Given the description of an element on the screen output the (x, y) to click on. 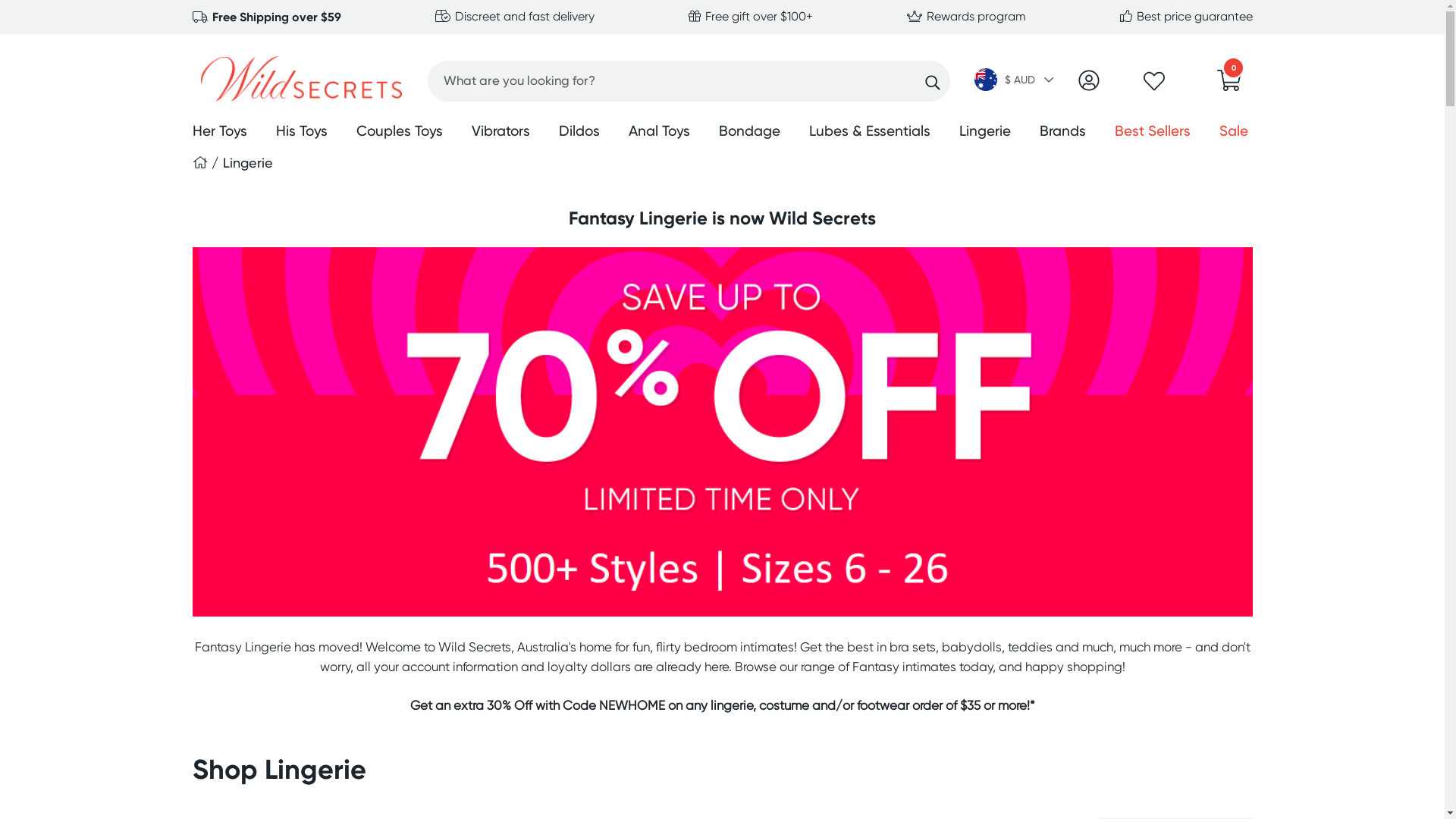
Brands Element type: text (1061, 132)
Rewards program Element type: text (966, 16)
Lubes & Essentials Element type: text (868, 132)
Anal Toys Element type: text (658, 132)
His Toys Element type: text (301, 132)
Best Sellers Element type: text (1152, 132)
Free gift over $100+ Element type: text (750, 16)
Sale Element type: text (1233, 132)
Couples Toys Element type: text (399, 132)
Bondage Element type: text (749, 132)
0 Element type: text (1229, 84)
$ AUD   Element type: text (1014, 81)
Dildos Element type: text (578, 132)
Vibrators Element type: text (500, 132)
Discreet and fast delivery Element type: text (514, 16)
Lingerie Element type: text (984, 132)
Lingerie Element type: text (247, 162)
Her Toys Element type: text (219, 132)
Best price guarantee Element type: text (1185, 16)
